Given the description of an element on the screen output the (x, y) to click on. 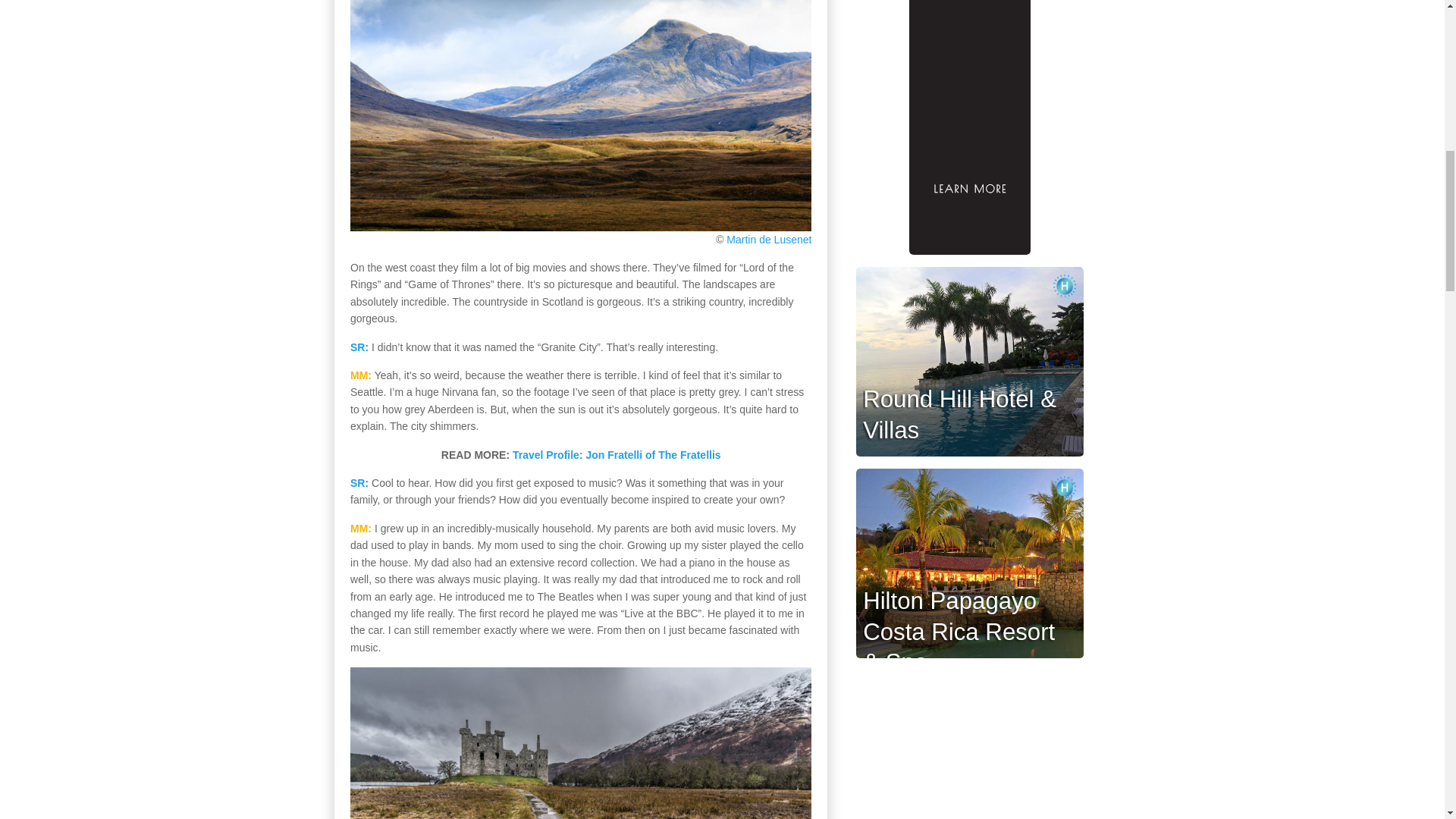
SR: (359, 482)
Martin de Lusenet (768, 239)
Travel Profile: Jon Fratelli of The Fratellis (616, 454)
MM: (360, 528)
MM: (360, 375)
SR: (359, 346)
